Given the description of an element on the screen output the (x, y) to click on. 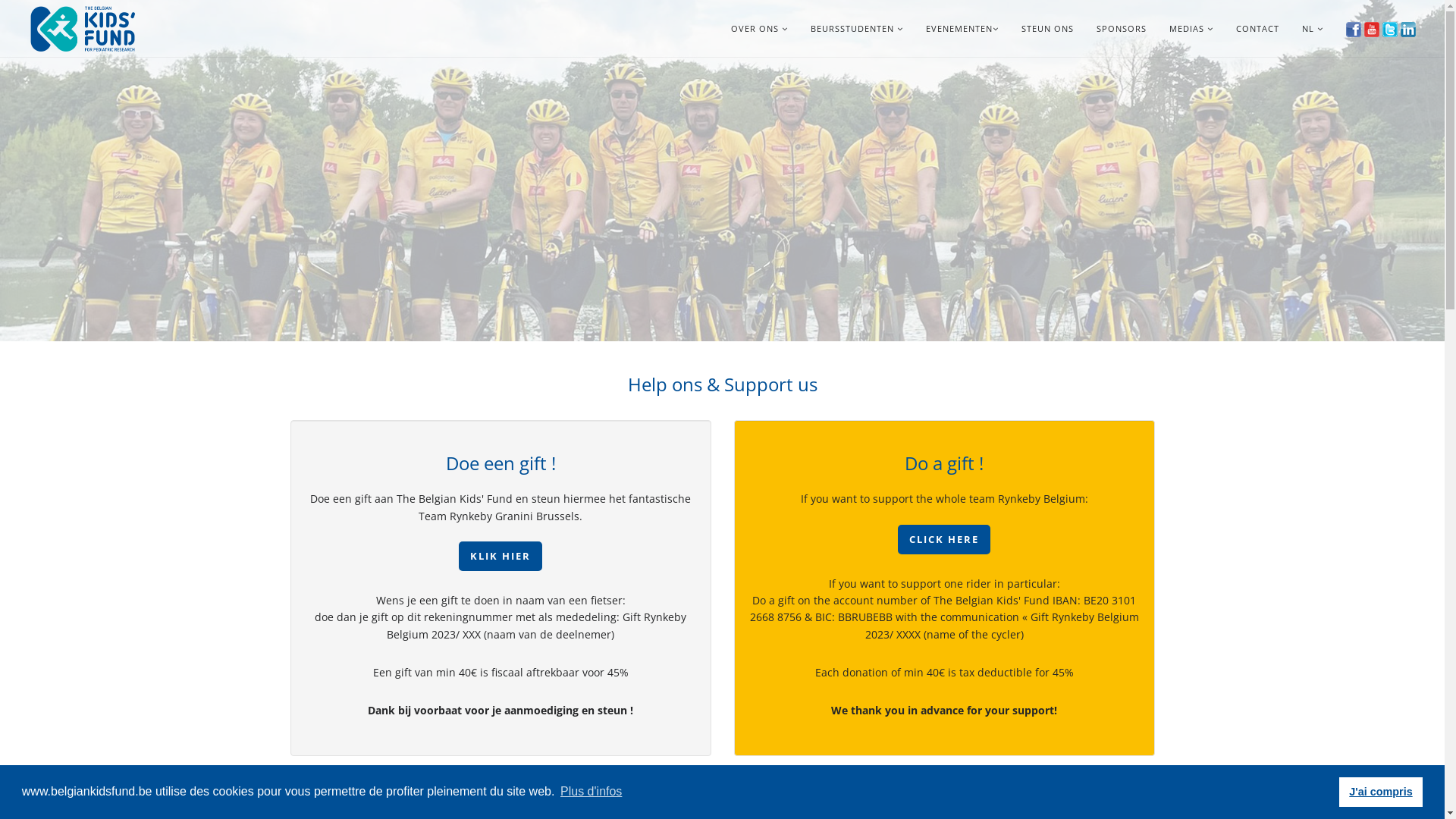
NL Element type: text (1308, 28)
CONTACT Element type: text (1257, 28)
SPONSORS Element type: text (1121, 28)
KLIK HIER Element type: text (500, 556)
EVENEMENTEN Element type: text (961, 28)
Plus d'infos Element type: text (591, 791)
BEURSSTUDENTEN Element type: text (856, 28)
CLICK HERE Element type: text (943, 539)
OVER ONS Element type: text (759, 28)
J'ai compris Element type: text (1380, 791)
MEDIAS Element type: text (1191, 28)
STEUN ONS Element type: text (1047, 28)
